Given the description of an element on the screen output the (x, y) to click on. 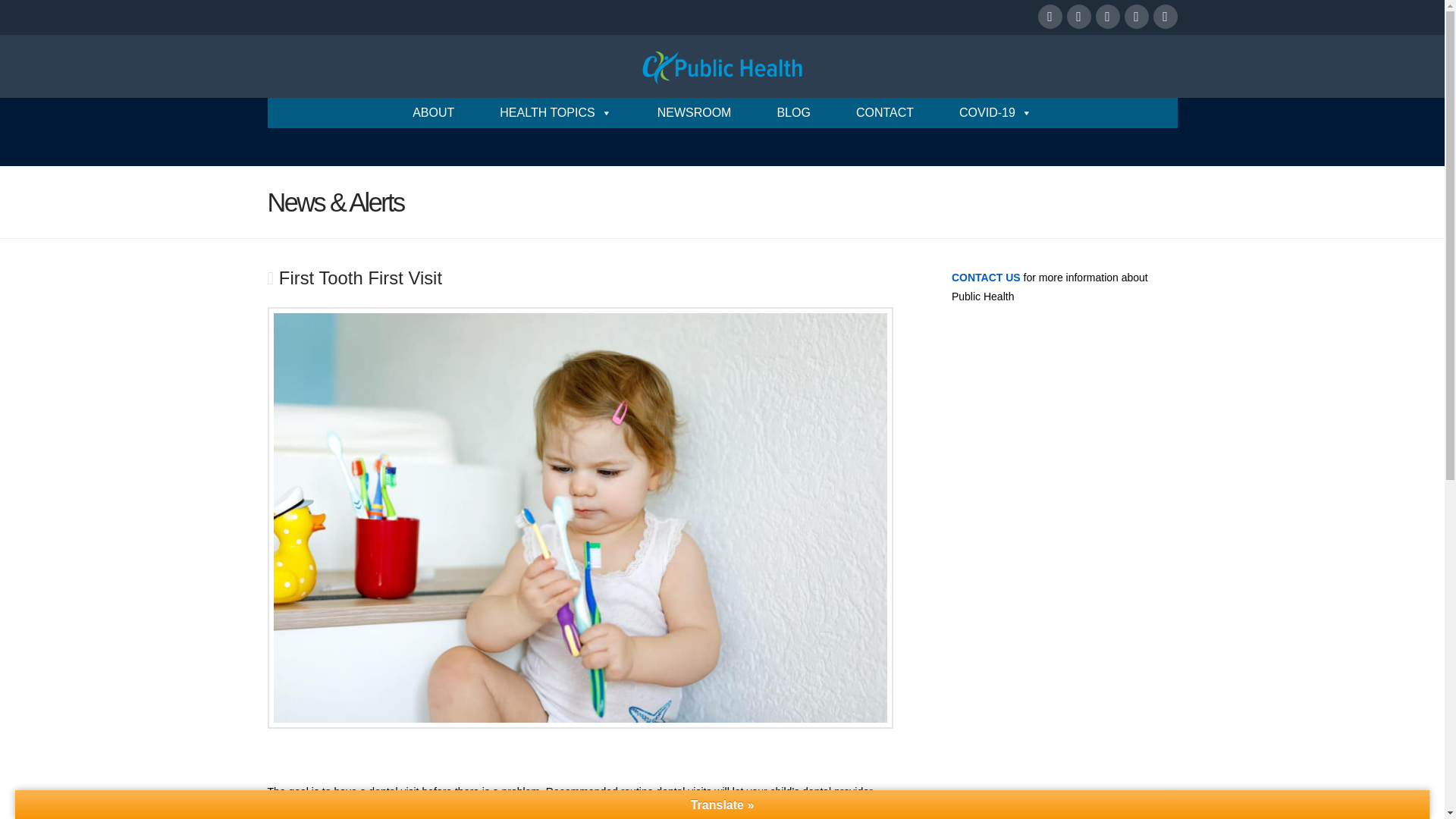
Instagram (1136, 16)
Facebook (1048, 16)
HEALTH TOPICS (555, 112)
YouTube (1106, 16)
ABOUT (433, 112)
RSS (1164, 16)
